Given the description of an element on the screen output the (x, y) to click on. 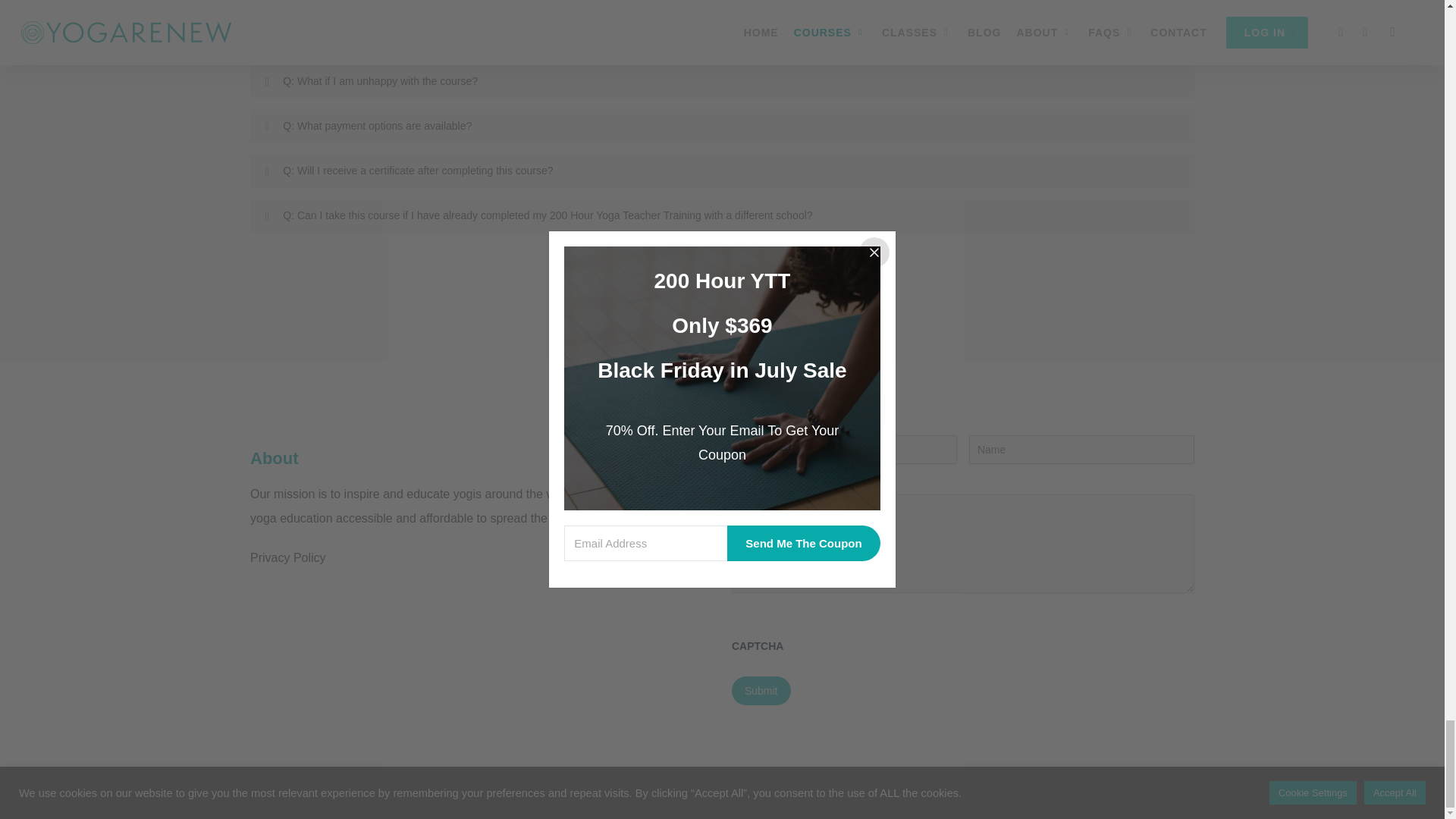
Submit (761, 690)
